Given the description of an element on the screen output the (x, y) to click on. 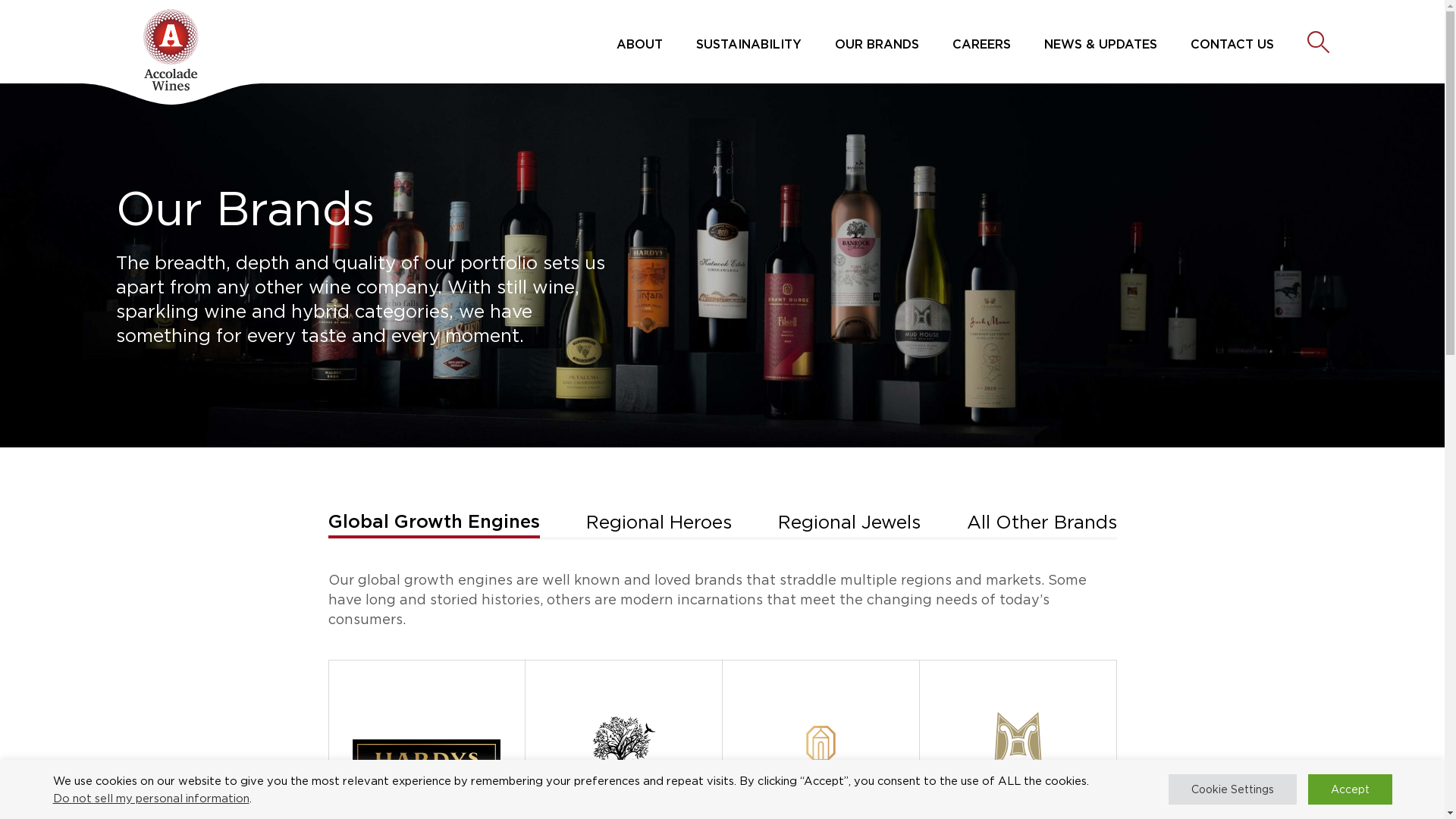
Regional Jewels Element type: text (849, 523)
All Other Brands Element type: text (1041, 523)
SUSTAINABILITY Element type: text (748, 44)
OUR BRANDS Element type: text (876, 44)
ABOUT Element type: text (638, 44)
Global Growth Engines Element type: text (433, 523)
Cookie Settings Element type: text (1231, 789)
CONTACT US Element type: text (1232, 44)
NEWS & UPDATES Element type: text (1099, 44)
Do not sell my personal information Element type: text (151, 797)
CAREERS Element type: text (981, 44)
Regional Heroes Element type: text (658, 523)
Accept Element type: text (1349, 789)
